Given the description of an element on the screen output the (x, y) to click on. 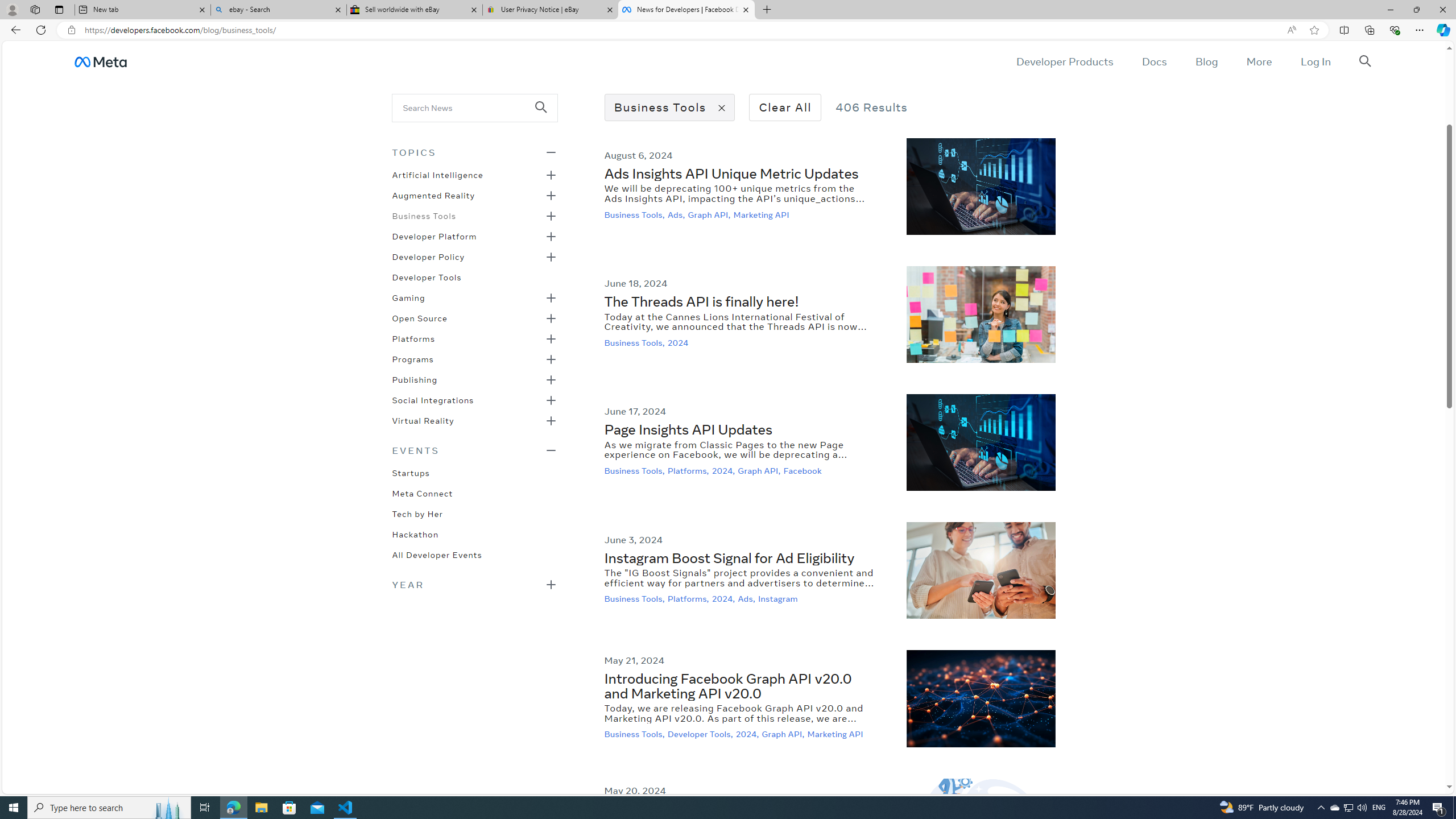
Marketing API (836, 733)
